Given the description of an element on the screen output the (x, y) to click on. 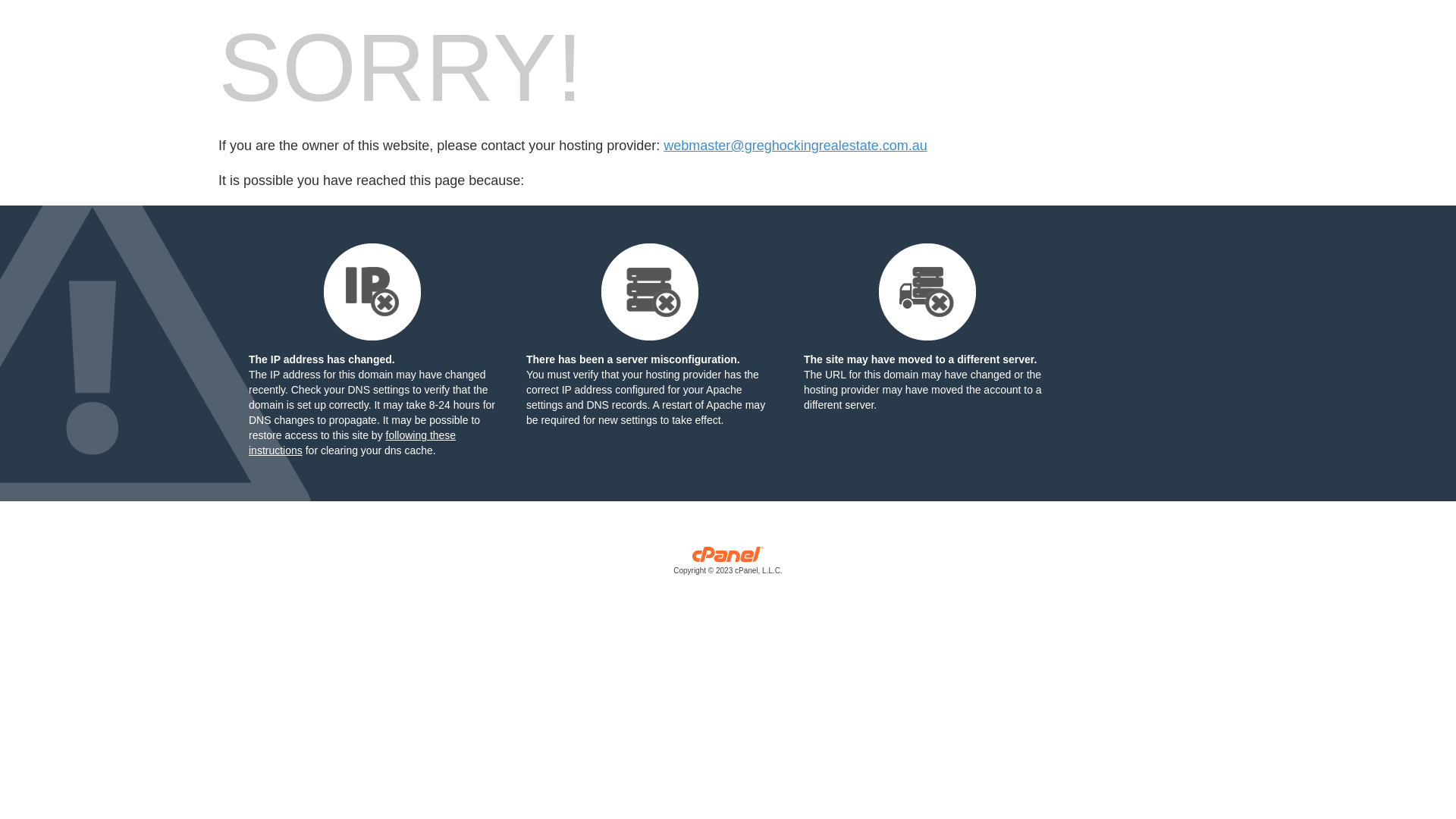
webmaster@greghockingrealestate.com.au Element type: text (794, 145)
following these instructions Element type: text (351, 442)
